Given the description of an element on the screen output the (x, y) to click on. 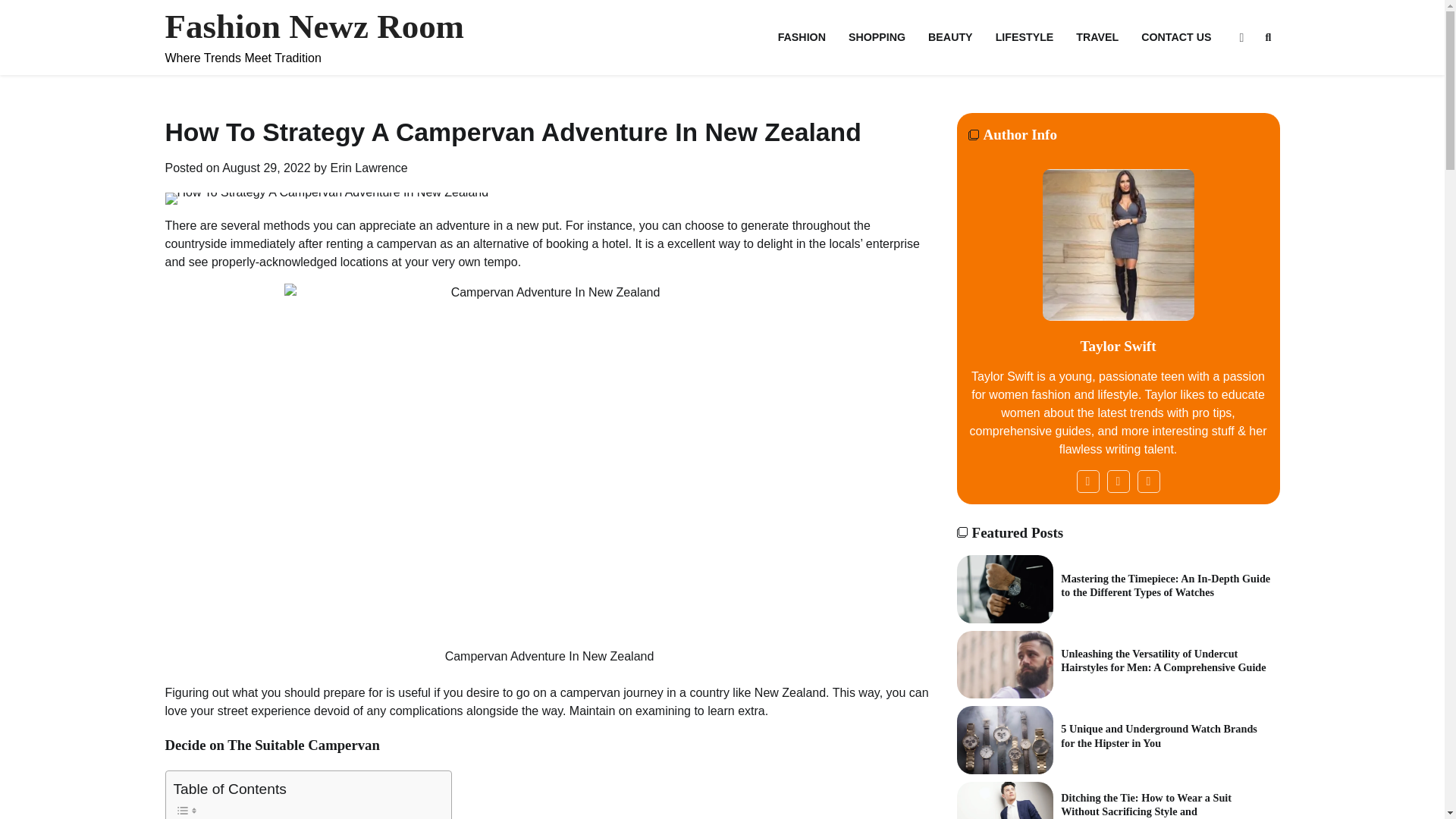
TRAVEL (1096, 37)
5 Unique and Underground Watch Brands for the Hipster in You (1159, 735)
Fashion Newz Room (314, 26)
SHOPPING (877, 37)
Erin Lawrence (368, 167)
5 Unique and Underground Watch Brands for the Hipster in You (1005, 739)
Search (1268, 37)
August 29, 2022 (266, 167)
Search (1240, 76)
How To Strategy A Campervan Adventure In New Zealand (327, 198)
